Given the description of an element on the screen output the (x, y) to click on. 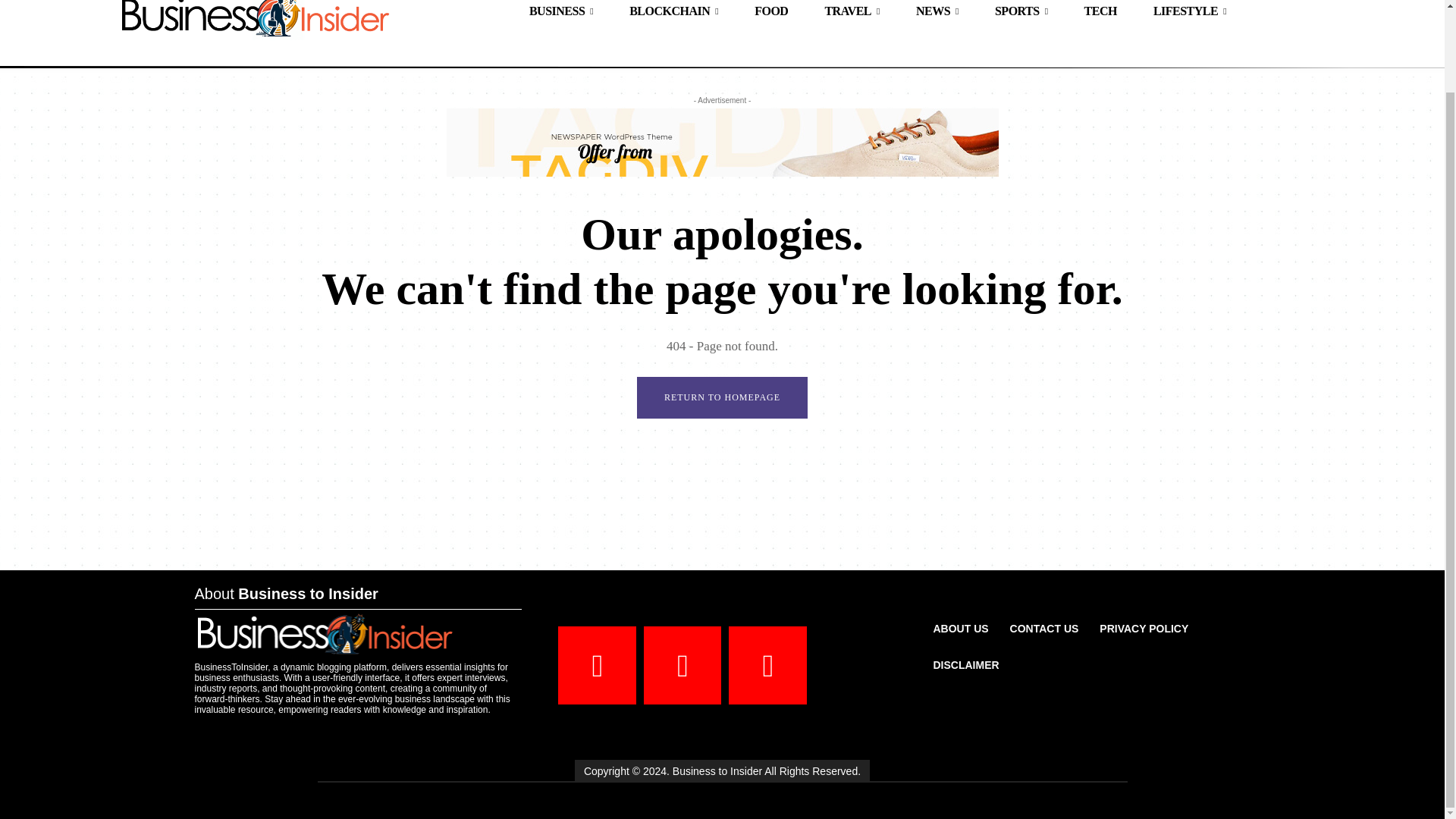
Instagram (682, 665)
Return to Homepage (722, 397)
BUSINESS (561, 15)
TRAVEL (852, 15)
FOOD (771, 15)
Twitter (767, 665)
BLOCKCHAIN (673, 15)
Facebook (596, 665)
